Given the description of an element on the screen output the (x, y) to click on. 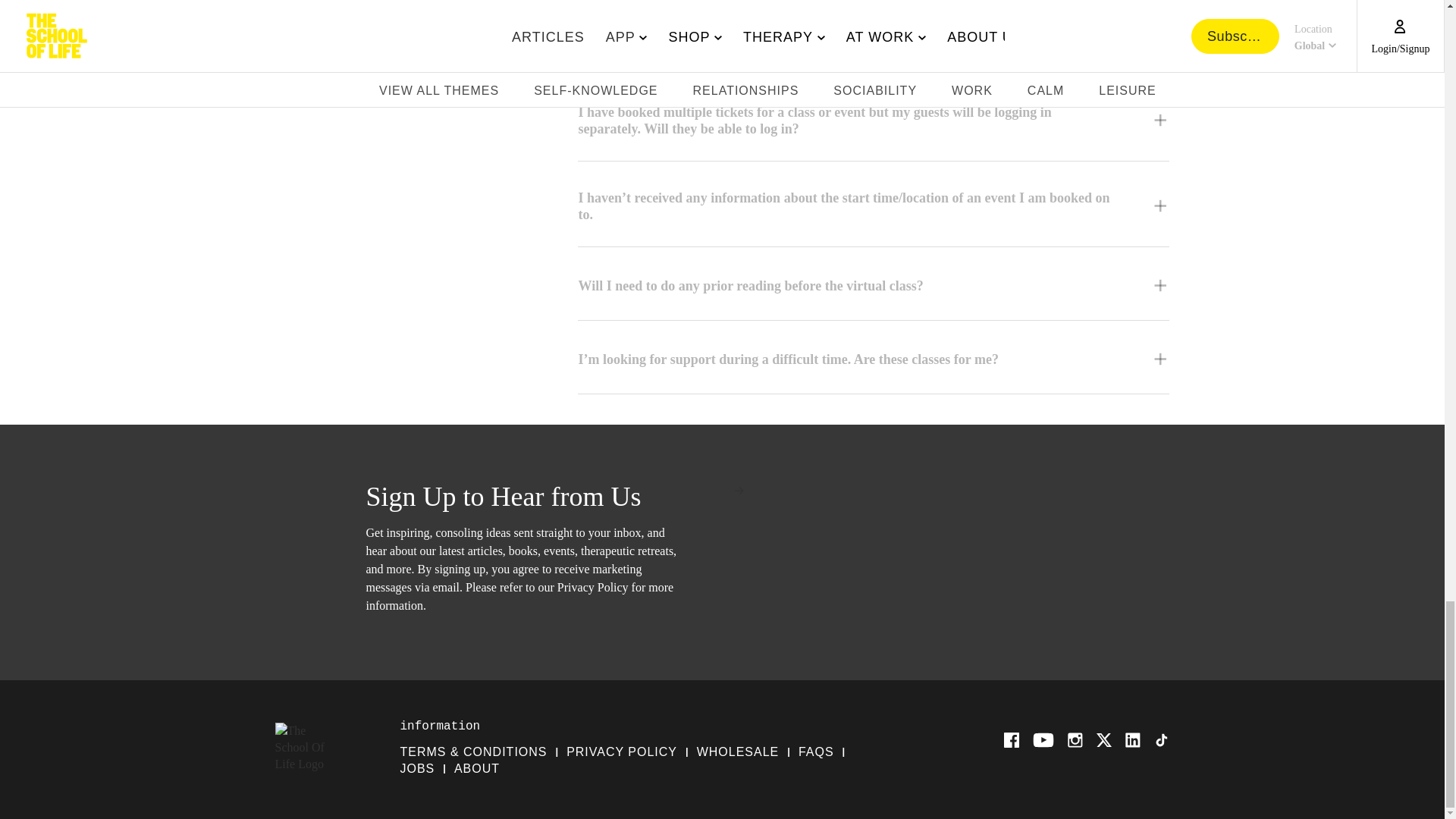
Subscribe us on YouTube (1043, 739)
Follow us on LinkedIn (1132, 739)
Follow us on TikTok (1161, 739)
Follow us on Instagram (1075, 739)
Follow us on Facebook (1011, 739)
Follow us on X (1104, 739)
